Given the description of an element on the screen output the (x, y) to click on. 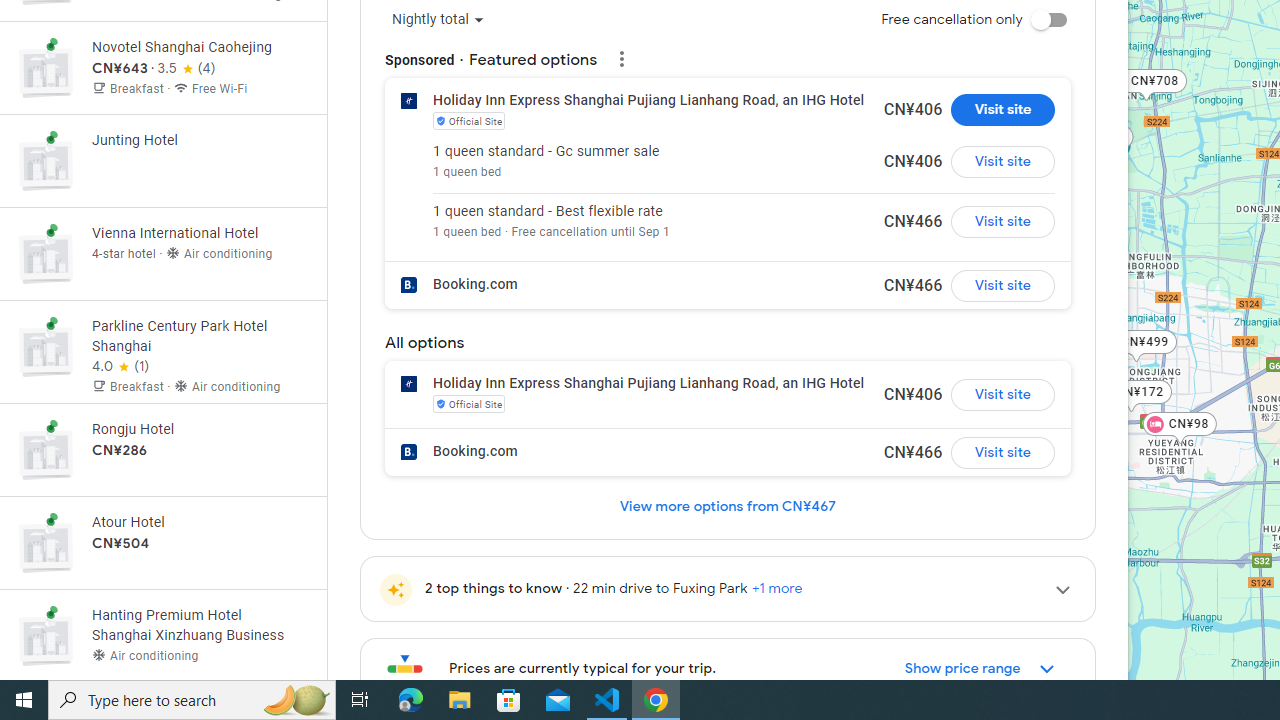
View prices for Vienna International Hotel (200, 323)
View prices for Parkline Century Park Hotel Shanghai (200, 426)
2 top things to know22 min drive to Fuxing Park+1 more (727, 588)
Open My Ad Center (620, 56)
3.5 out of 5 stars from 4 reviews (186, 69)
4 out of 5 stars from 1 reviews (120, 367)
